Given the description of an element on the screen output the (x, y) to click on. 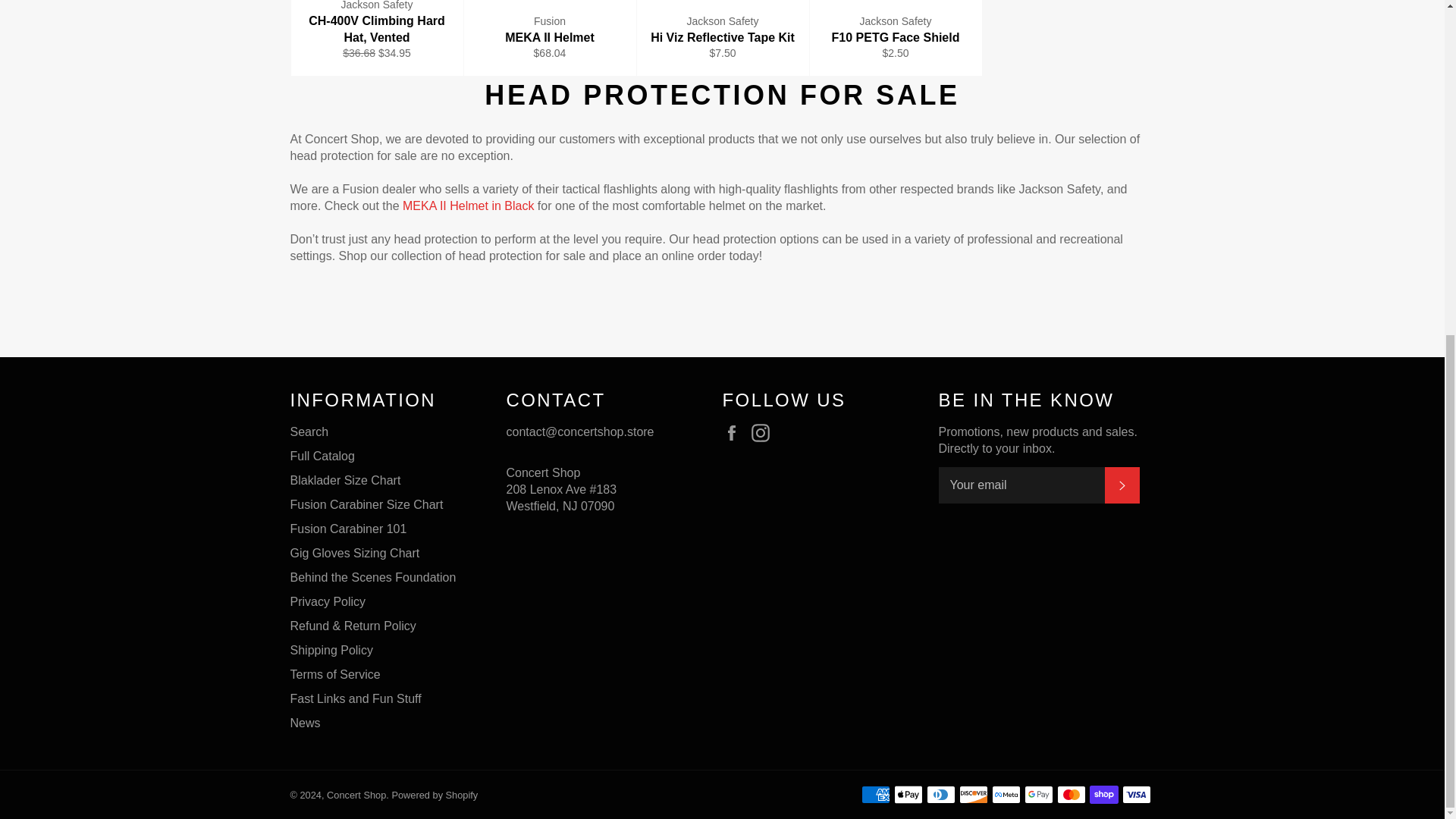
Concert Shop on Facebook (735, 433)
Concert Shop on Instagram (764, 433)
MEKA II Helmet Black (470, 205)
